Given the description of an element on the screen output the (x, y) to click on. 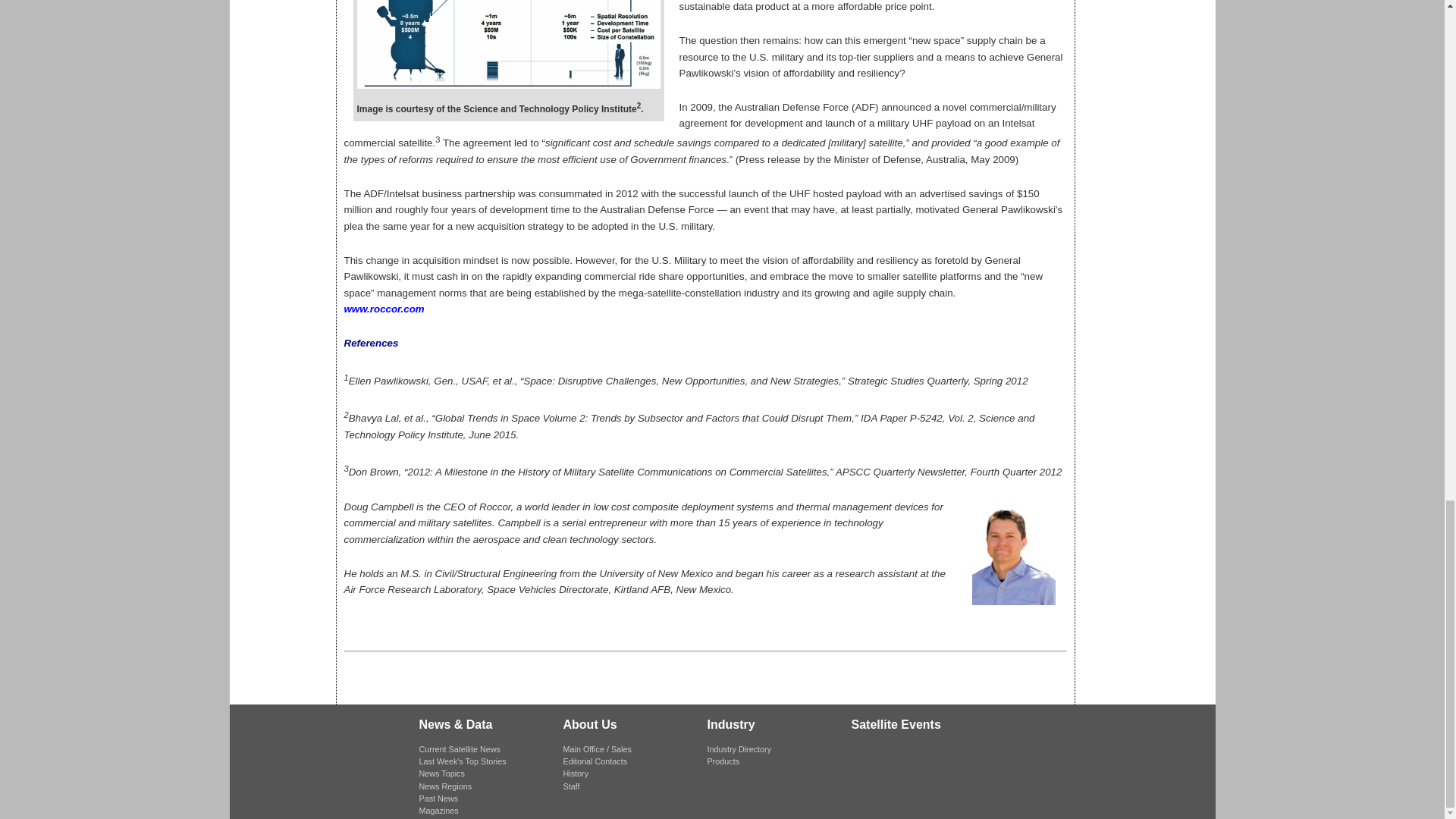
News Topics (441, 773)
History (575, 773)
Staff (570, 786)
Magazines (438, 809)
Past News (438, 798)
Products (722, 760)
News Regions (445, 786)
www.roccor.com (384, 308)
Last Week's Top Stories (462, 760)
Industry Directory (738, 748)
Editorial Contacts (594, 760)
Current Satellite News (459, 748)
